Given the description of an element on the screen output the (x, y) to click on. 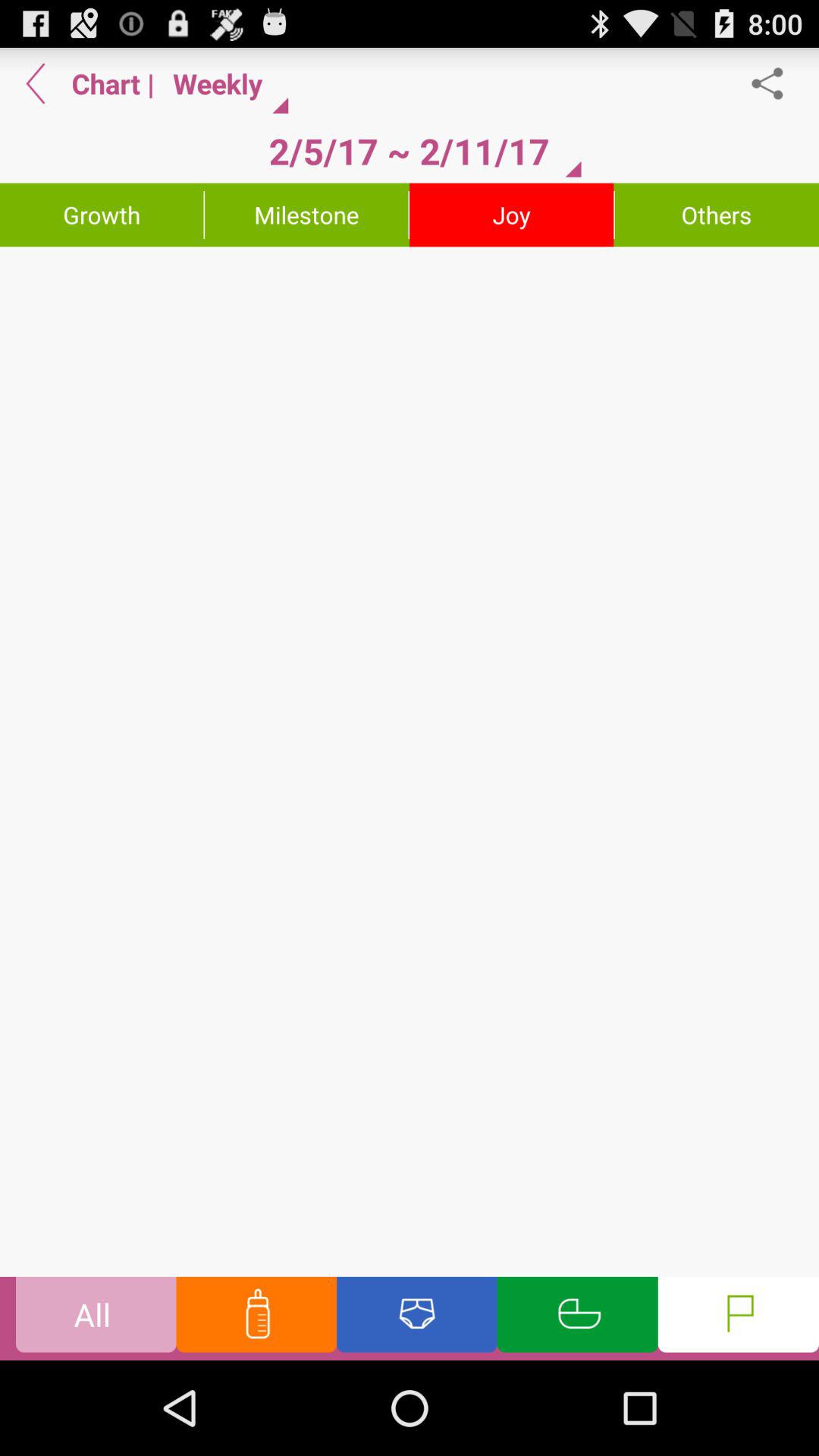
turn off icon above the 2 5 17 (224, 83)
